Given the description of an element on the screen output the (x, y) to click on. 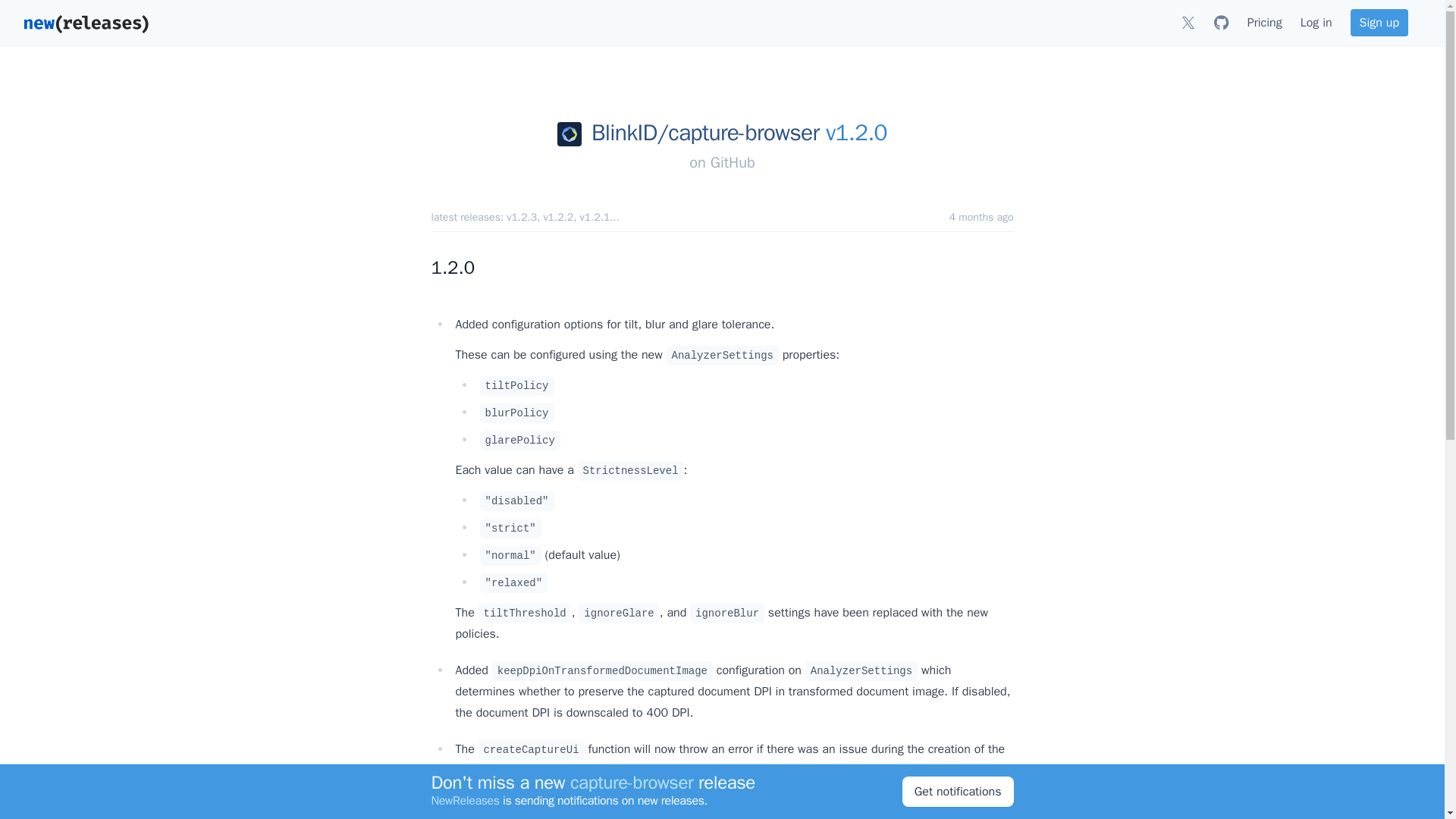
Pricing (1264, 22)
Sign up (1379, 22)
Log in (1316, 22)
Get notifications (957, 791)
GitHub (732, 162)
v1.2.0 (855, 133)
